Given the description of an element on the screen output the (x, y) to click on. 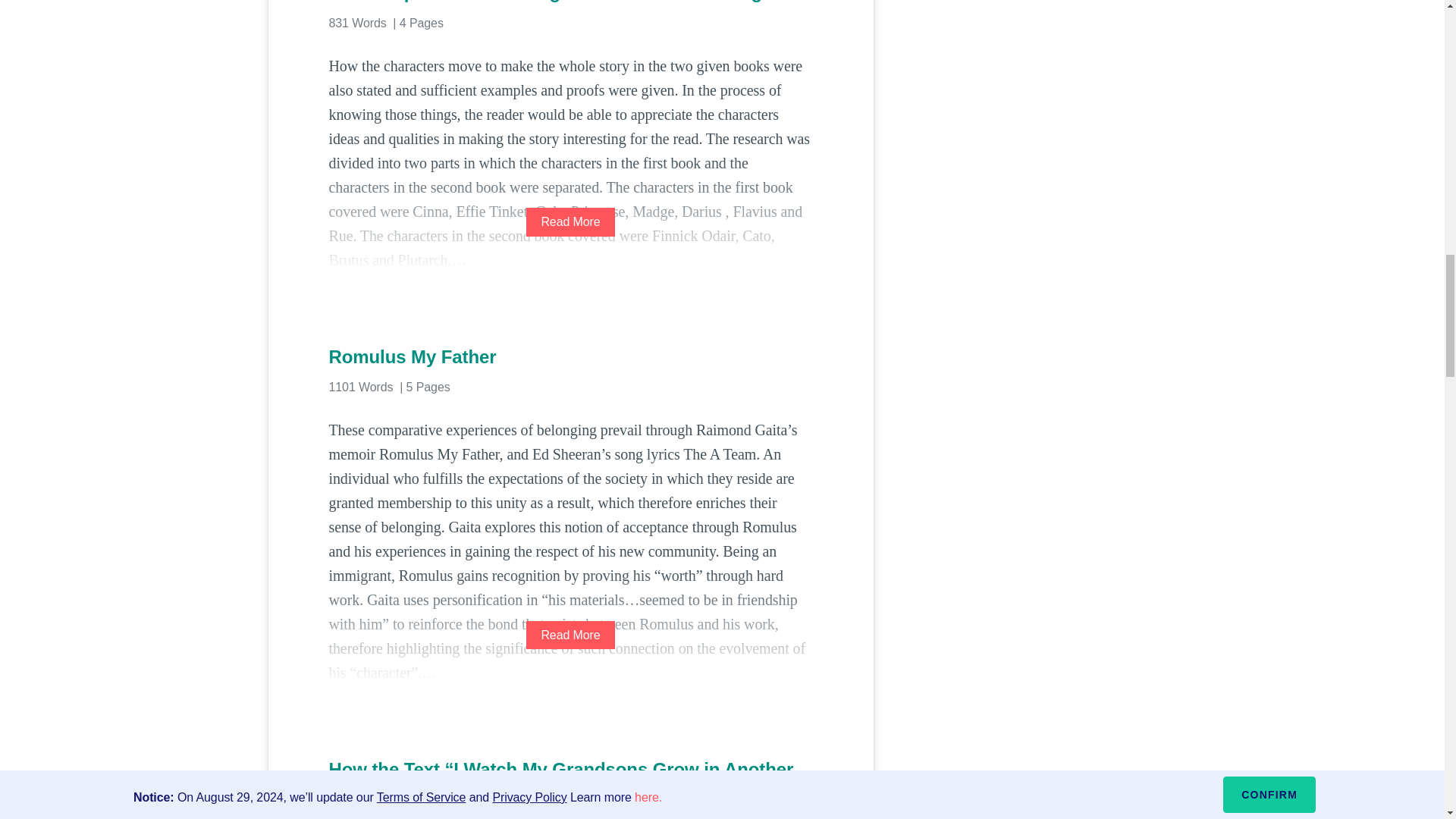
Read More (569, 634)
Read More (569, 221)
Romulus My Father (570, 356)
